Given the description of an element on the screen output the (x, y) to click on. 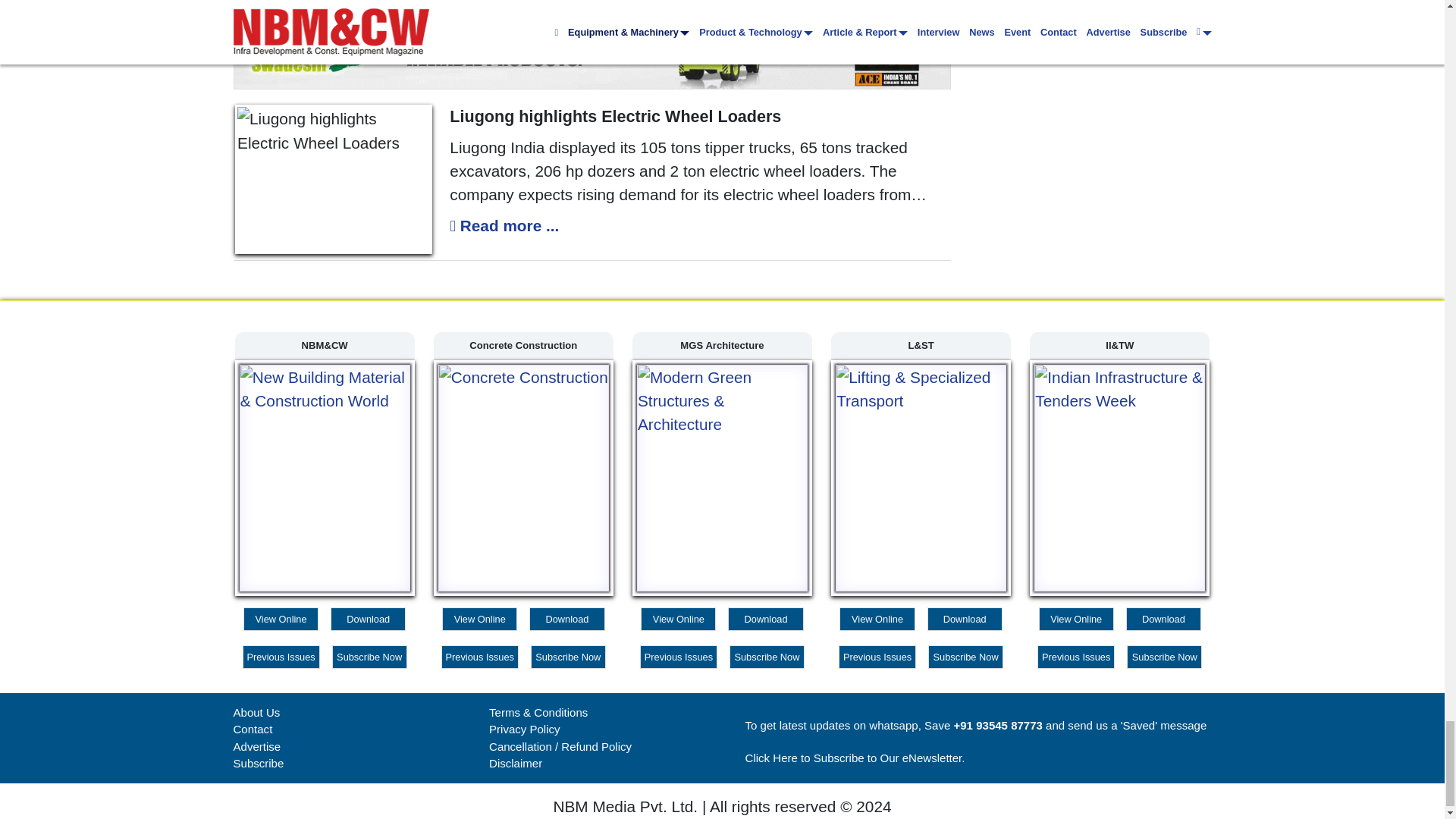
ACE - India's No. 1 CRANE BRAND (591, 43)
